Given the description of an element on the screen output the (x, y) to click on. 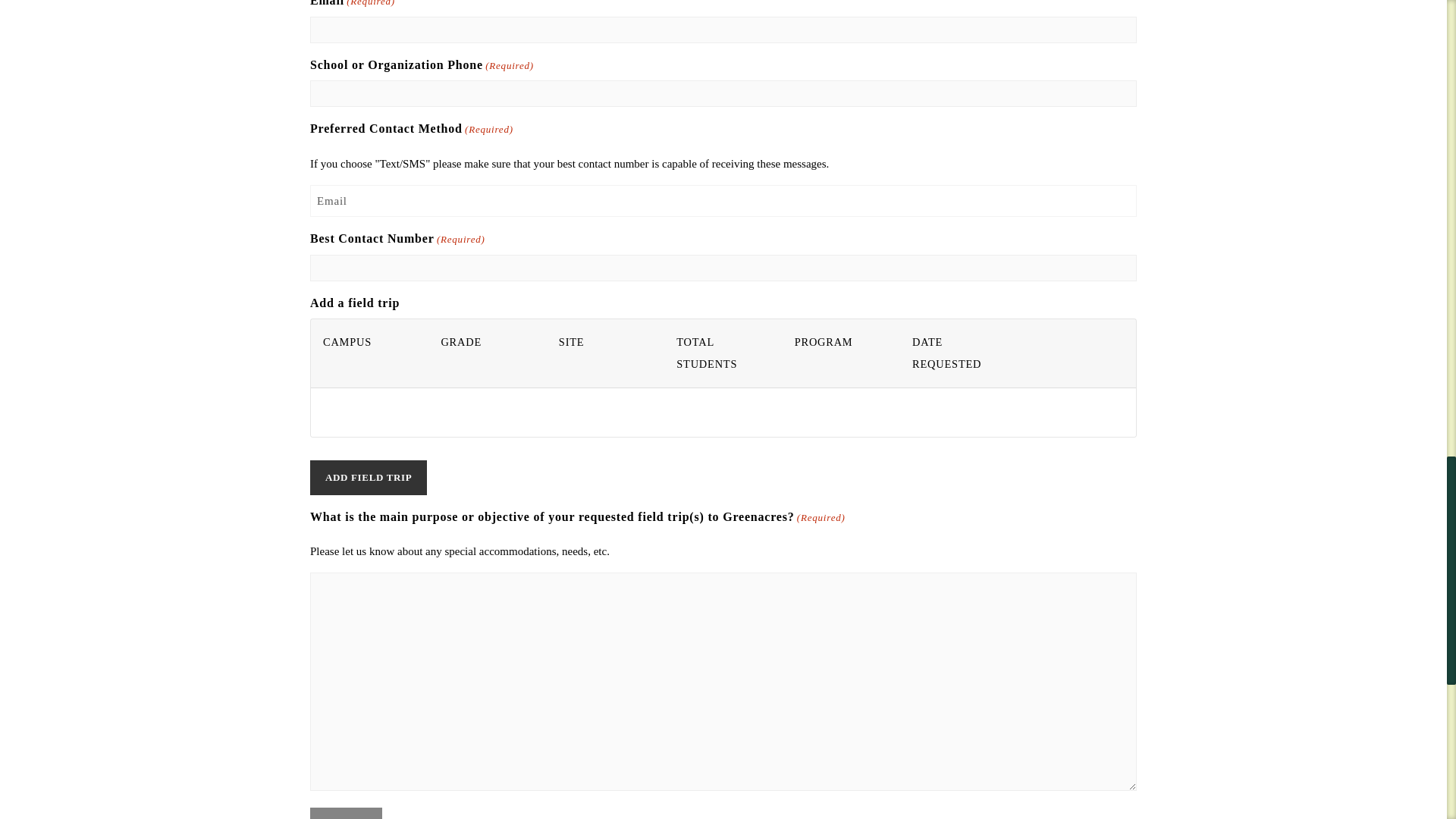
Submit (345, 813)
